Given the description of an element on the screen output the (x, y) to click on. 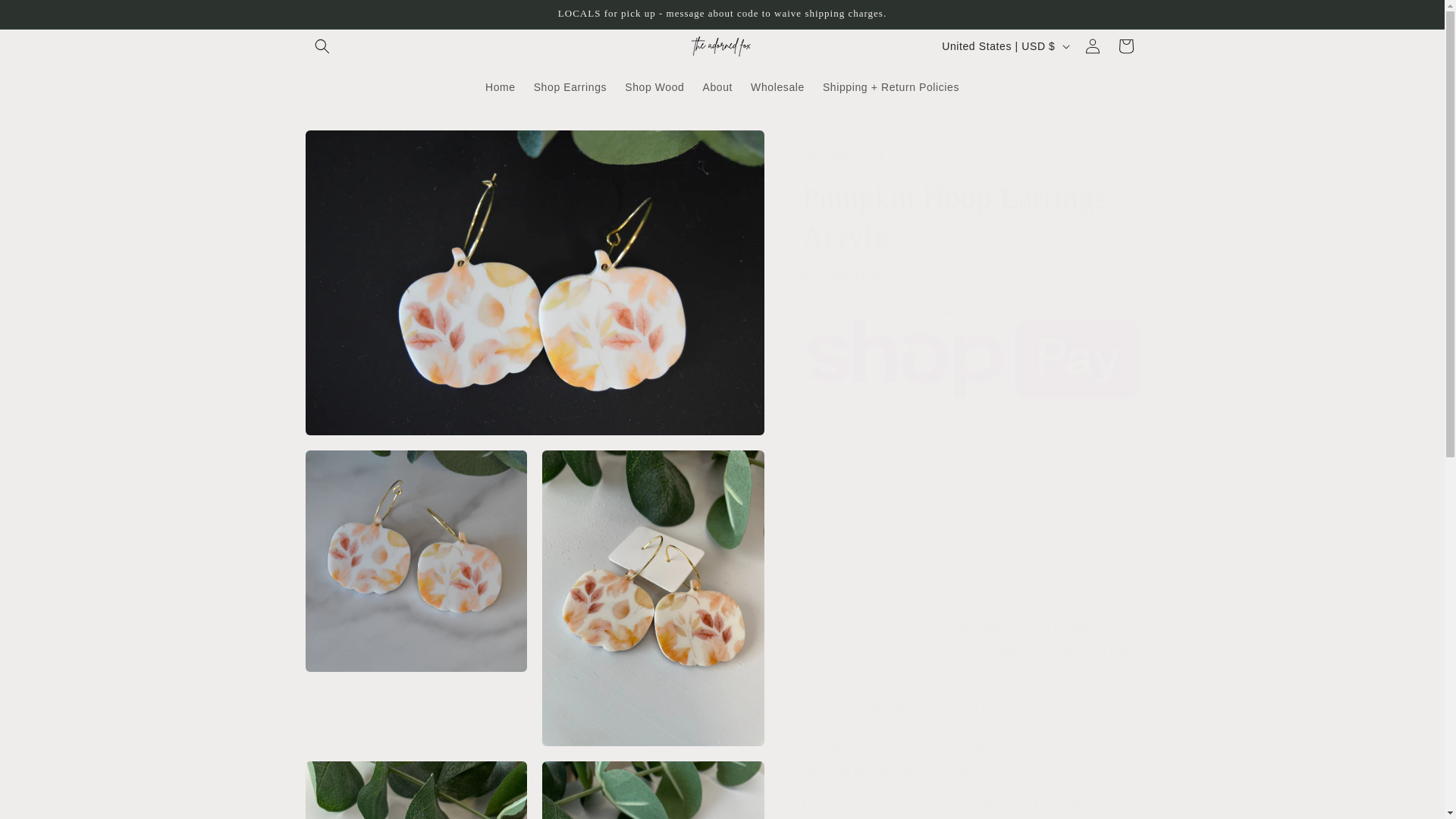
Shop Earrings (569, 87)
Skip to product information (350, 147)
Open media 4 in modal (415, 790)
Home (500, 87)
Shop Wood (654, 87)
About (718, 87)
Decrease quantity for Pumpkin Hoop Earrings - Acrylic (818, 468)
Open media 5 in modal (652, 790)
Log in (1091, 46)
Increase quantity for Pumpkin Hoop Earrings - Acrylic (891, 468)
